Given the description of an element on the screen output the (x, y) to click on. 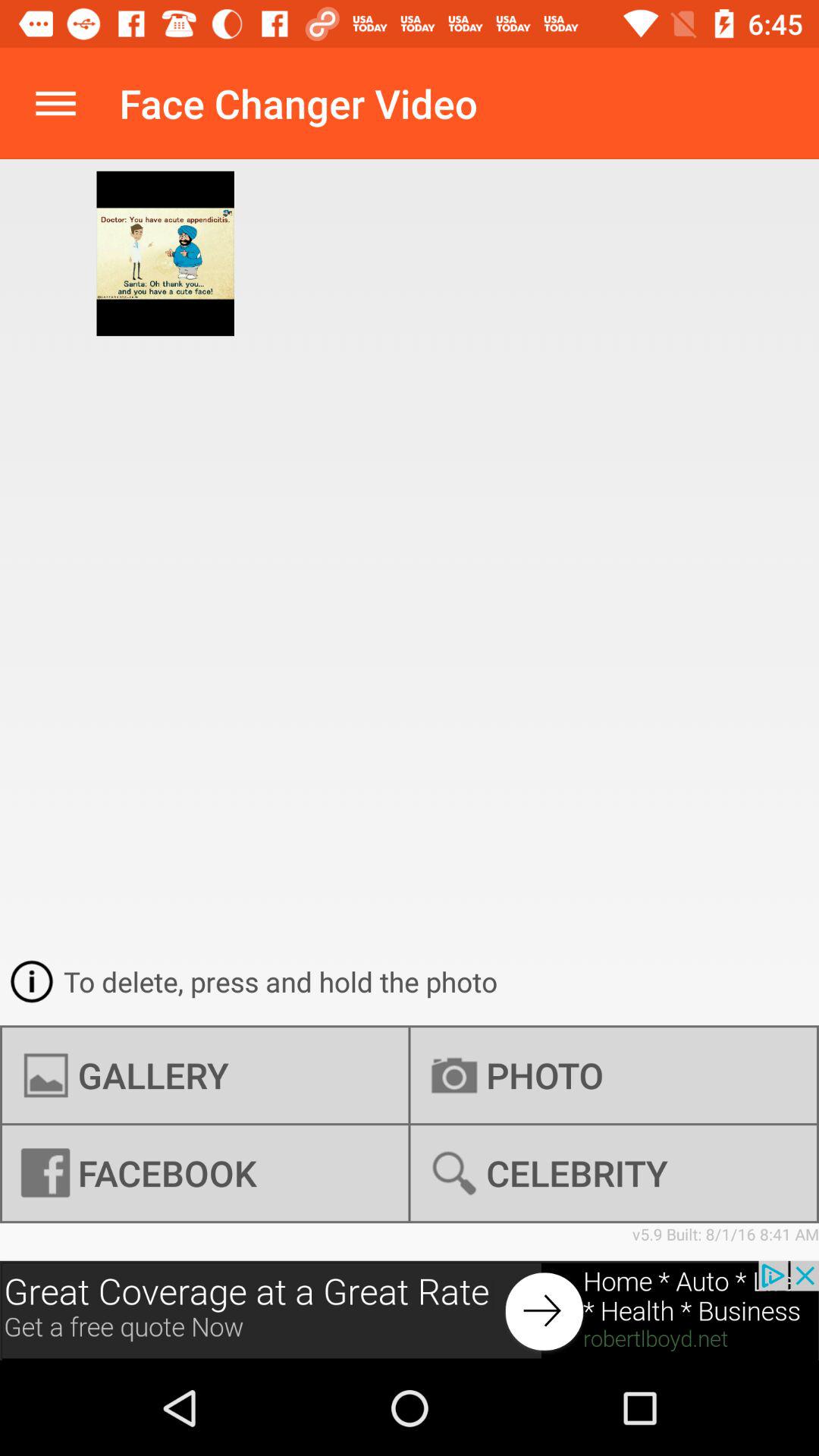
tap the icon above the facebook icon (205, 1075)
